Given the description of an element on the screen output the (x, y) to click on. 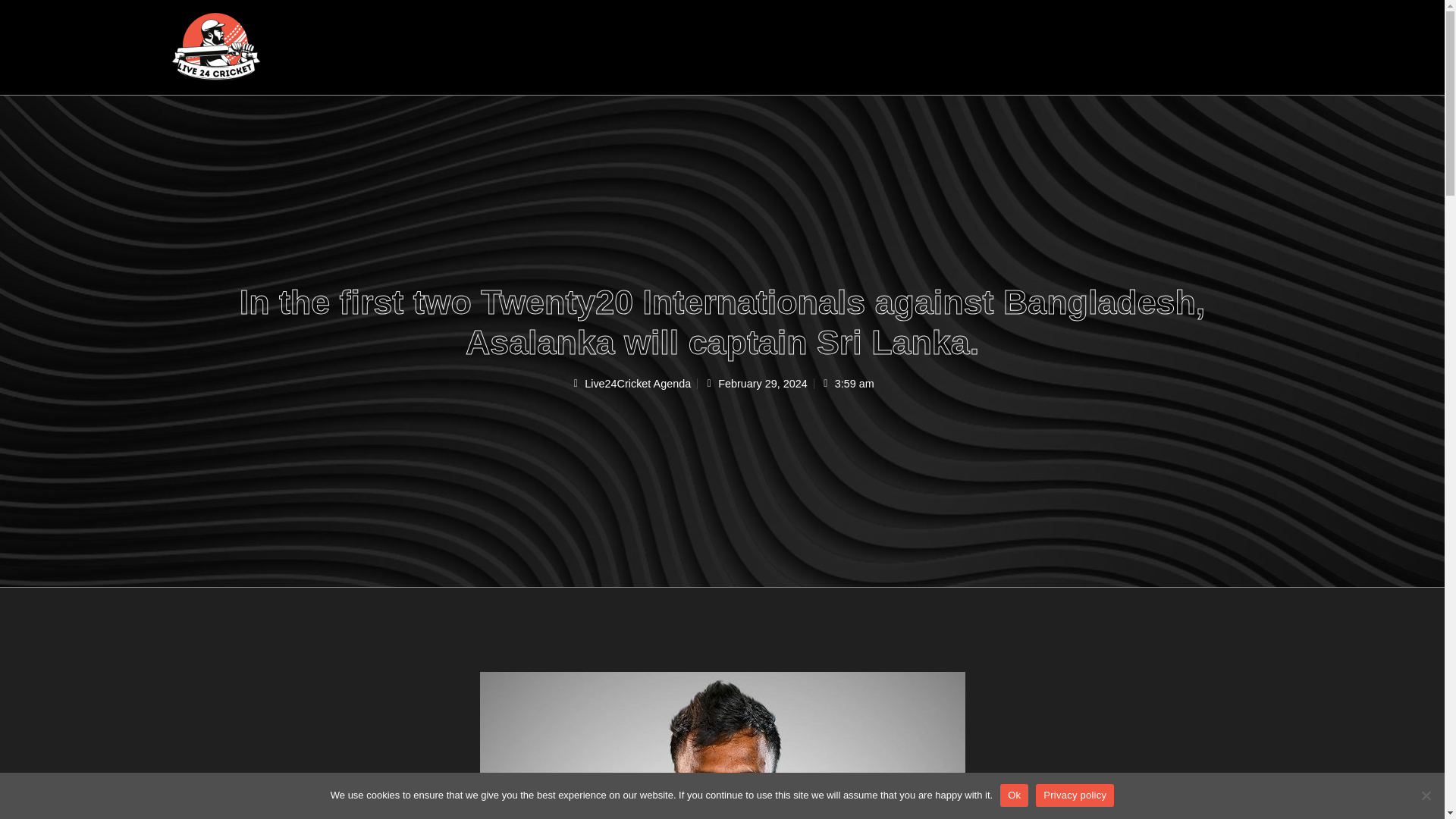
Live24Cricket Agenda (630, 383)
No (1425, 795)
February 29, 2024 (755, 383)
